Given the description of an element on the screen output the (x, y) to click on. 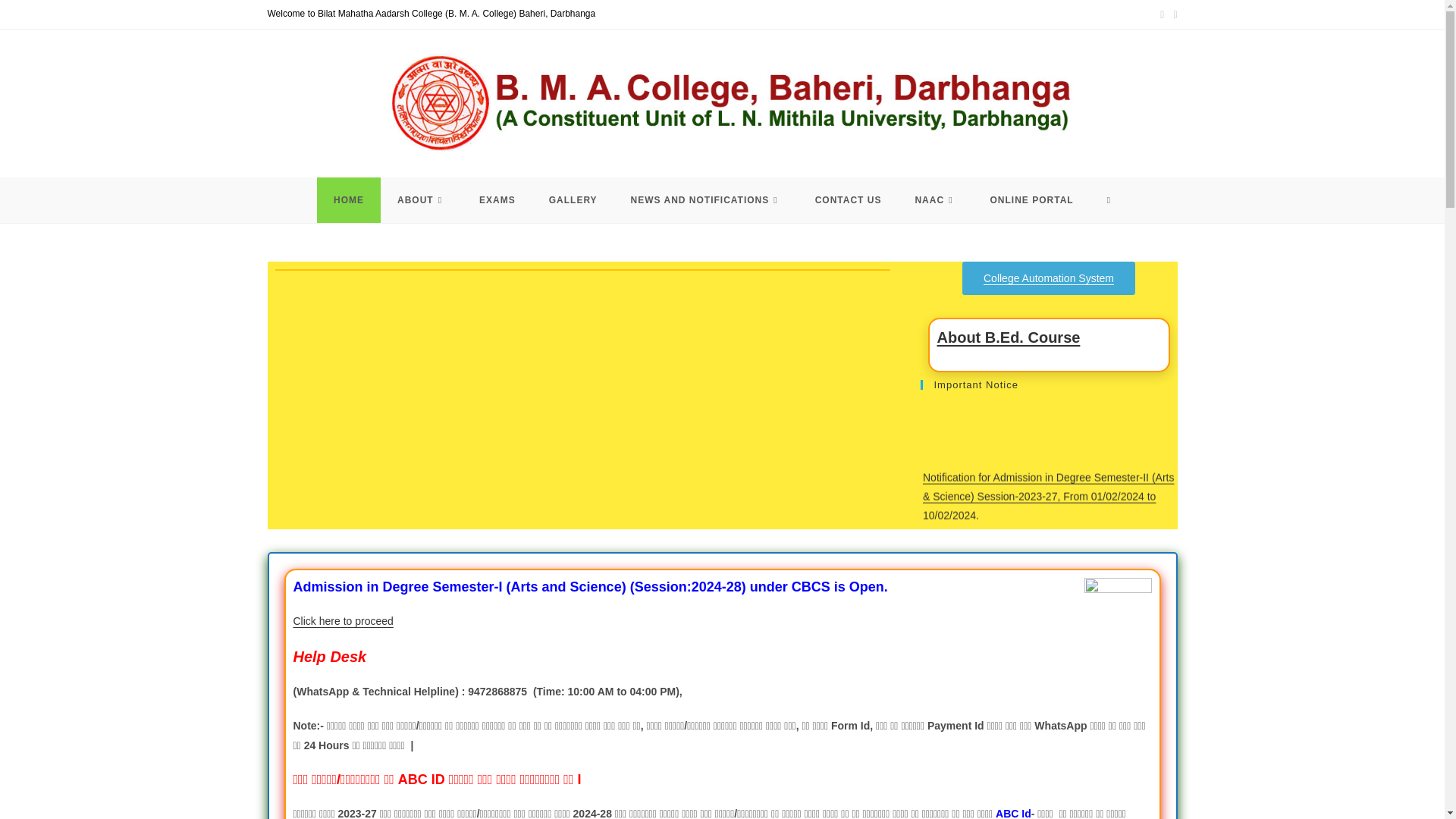
EXAMS (497, 199)
NAAC (935, 199)
NEWS AND NOTIFICATIONS (705, 199)
ONLINE PORTAL (1032, 199)
HOME (348, 199)
GALLERY (573, 199)
CONTACT US (847, 199)
ABOUT (421, 199)
